Given the description of an element on the screen output the (x, y) to click on. 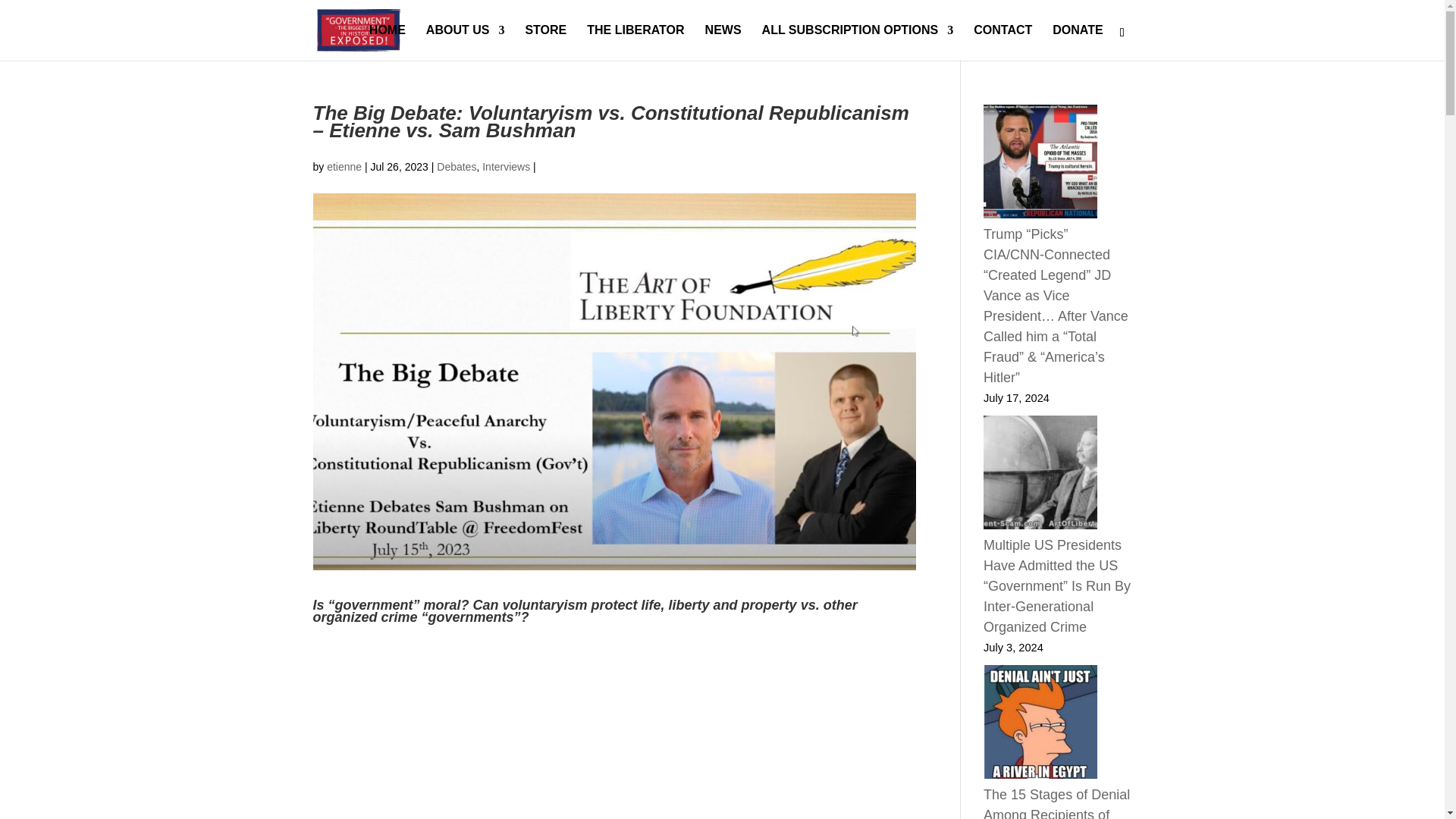
DONATE (1077, 42)
HOME (387, 42)
Debates (456, 166)
ALL SUBSCRIPTION OPTIONS (857, 42)
THE LIBERATOR (635, 42)
ABOUT US (465, 42)
etienne (343, 166)
STORE (545, 42)
NEWS (722, 42)
Posts by etienne (343, 166)
CONTACT (1003, 42)
Interviews (505, 166)
